Given the description of an element on the screen output the (x, y) to click on. 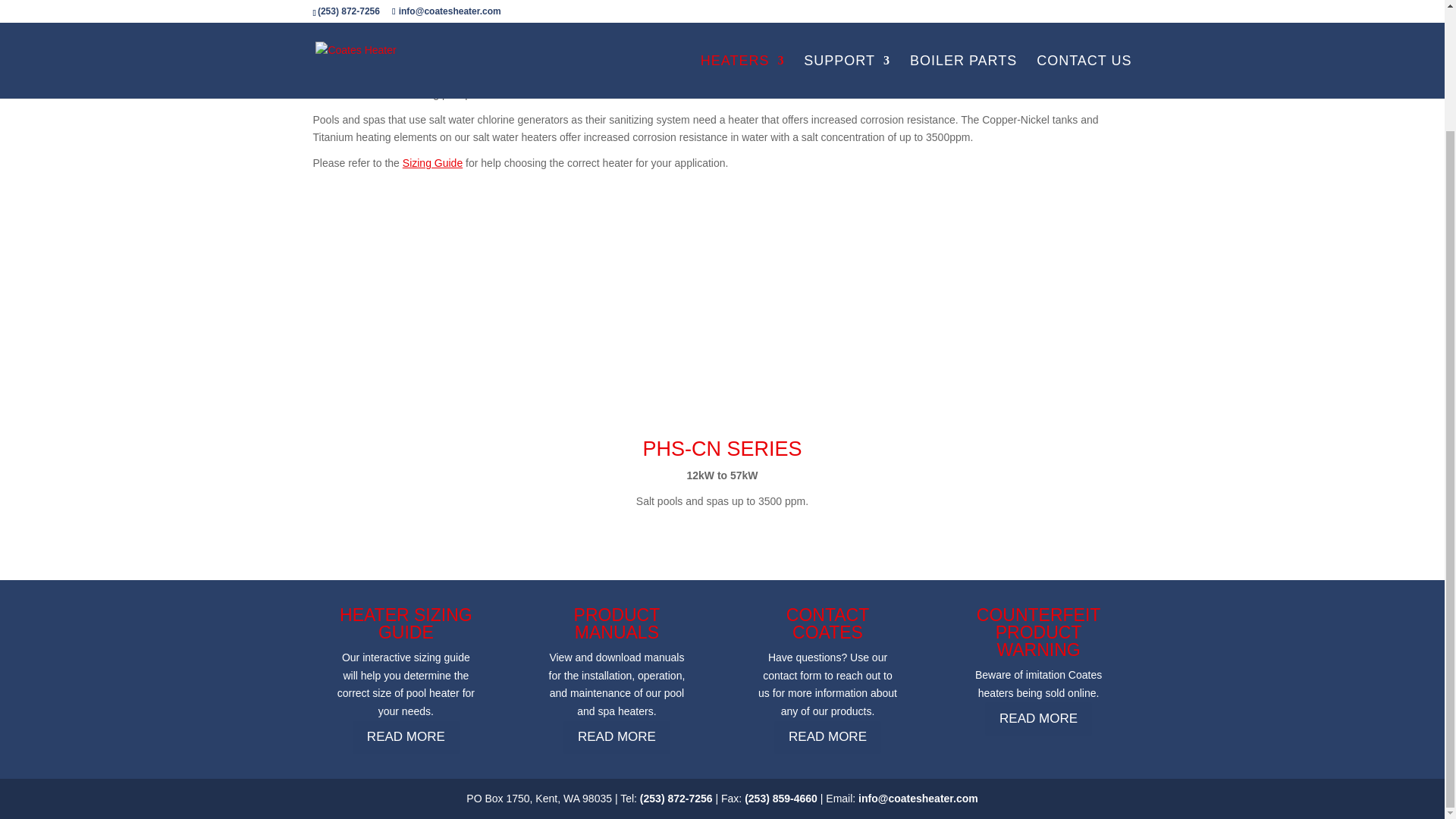
READ MORE (406, 737)
READ MORE (827, 737)
Sizing Guide (433, 162)
READ MORE (1038, 717)
READ MORE (616, 737)
